Given the description of an element on the screen output the (x, y) to click on. 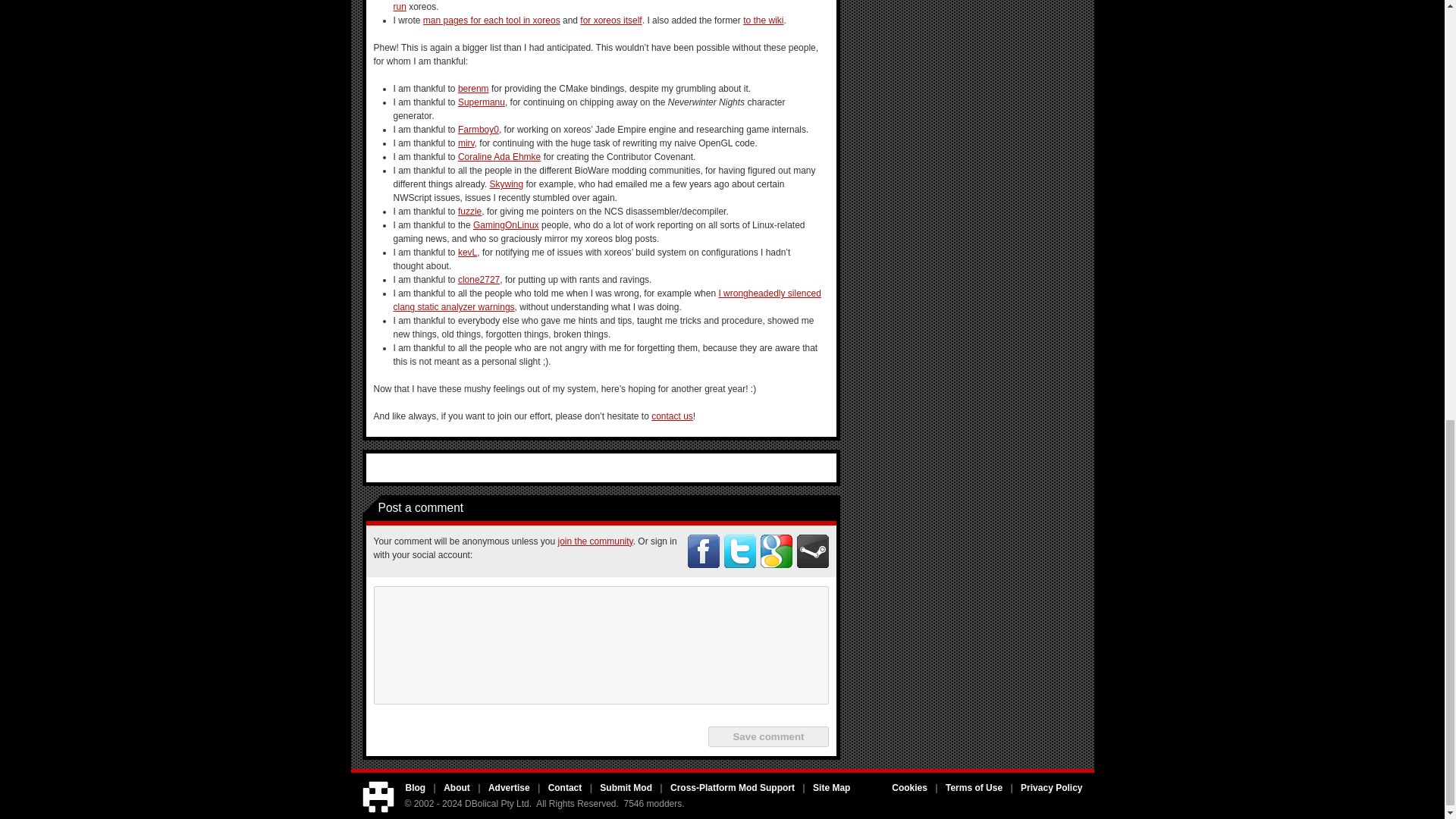
Save comment (767, 736)
Click to connect via Google (776, 551)
Click to connect via Facebook (703, 551)
Click to connect via Steam (812, 551)
Click to connect via Twitter (739, 551)
